Given the description of an element on the screen output the (x, y) to click on. 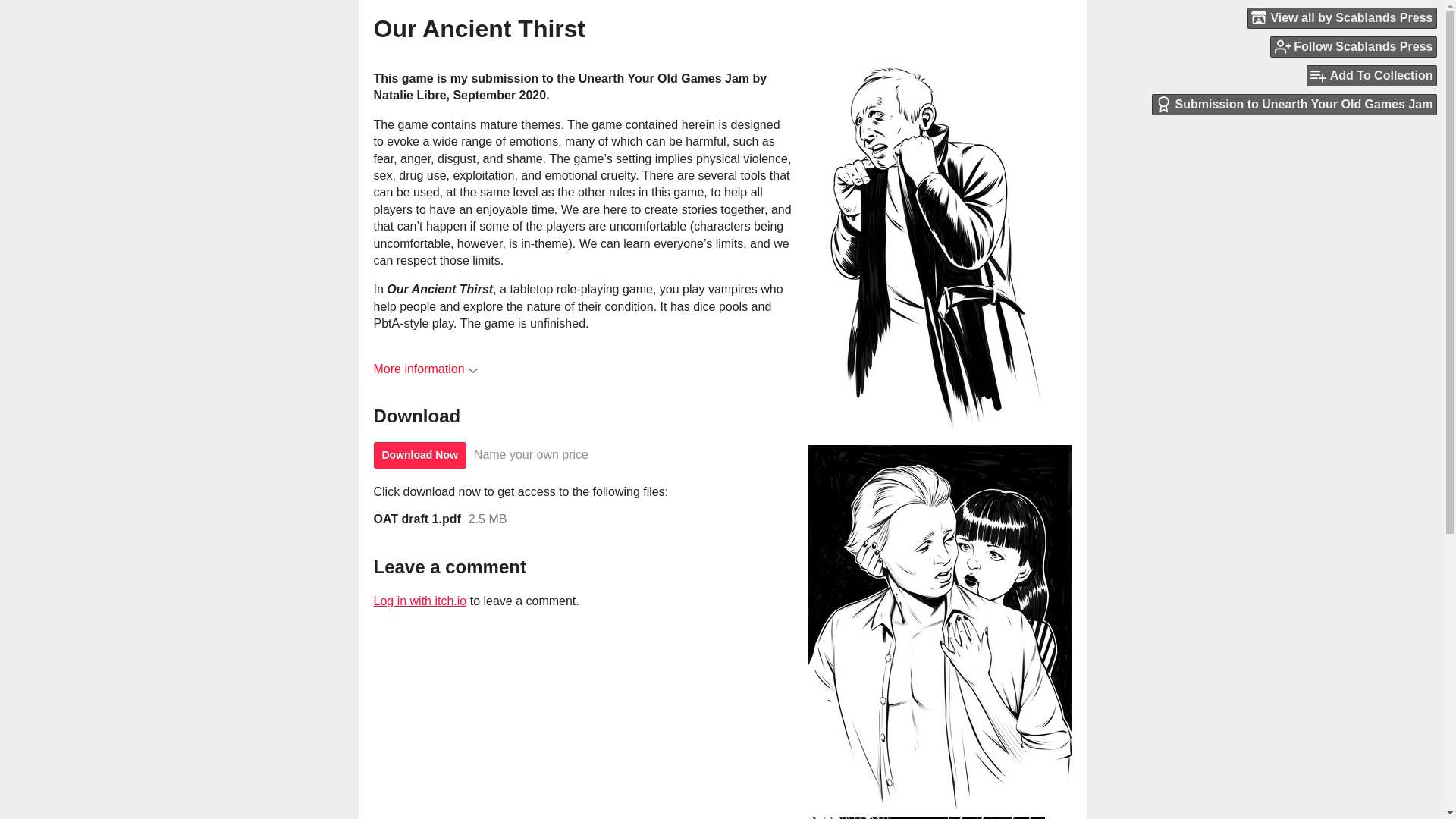
View all by Scablands Press (1341, 17)
Add To Collection (1371, 75)
Download Now (418, 455)
More information (424, 368)
OAT draft 1.pdf (416, 519)
Log in with itch.io (418, 600)
Follow Scablands Press (1353, 46)
Submission to Unearth Your Old Games Jam (1294, 104)
